Given the description of an element on the screen output the (x, y) to click on. 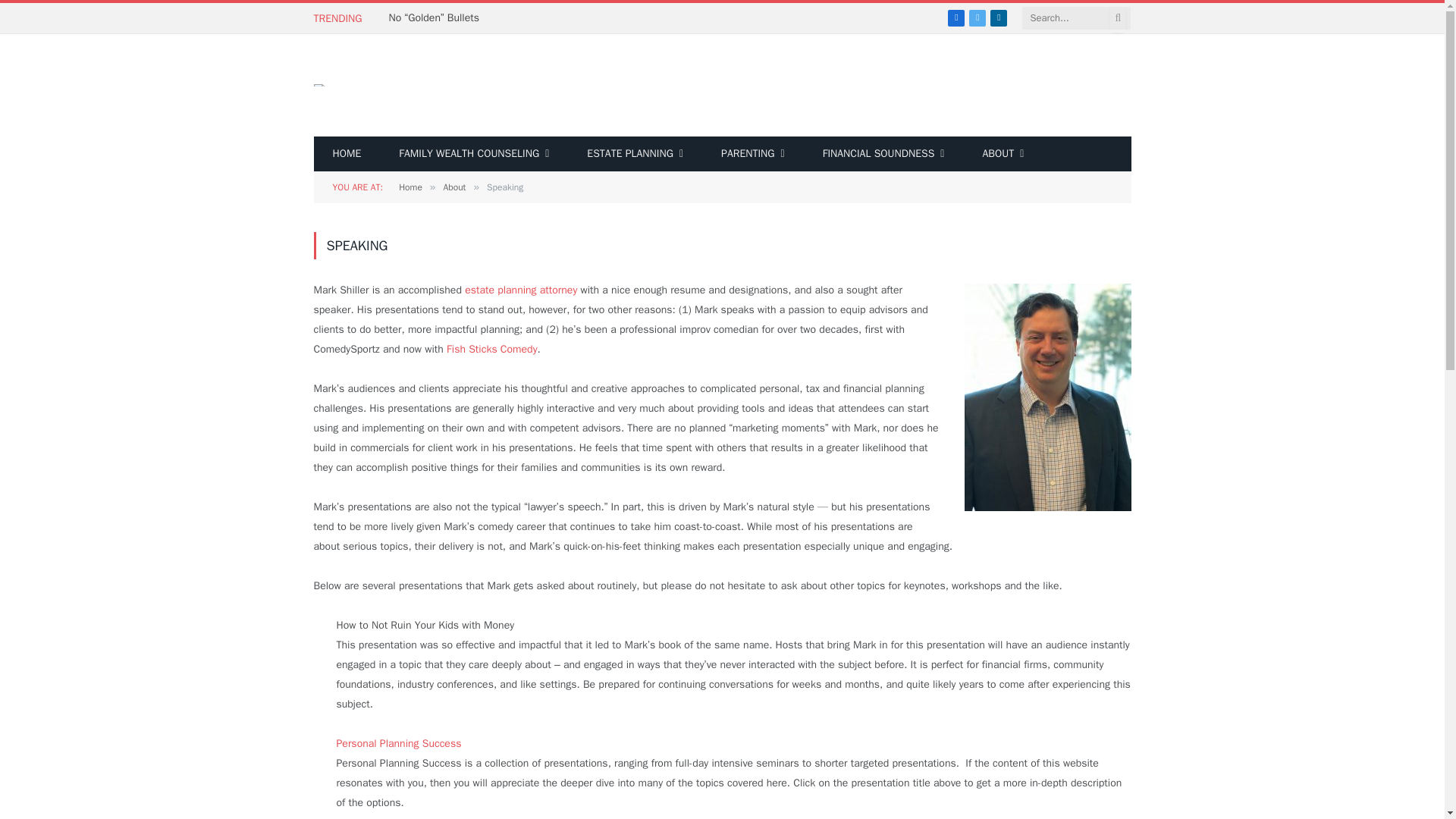
Mark Shiller (320, 85)
